Given the description of an element on the screen output the (x, y) to click on. 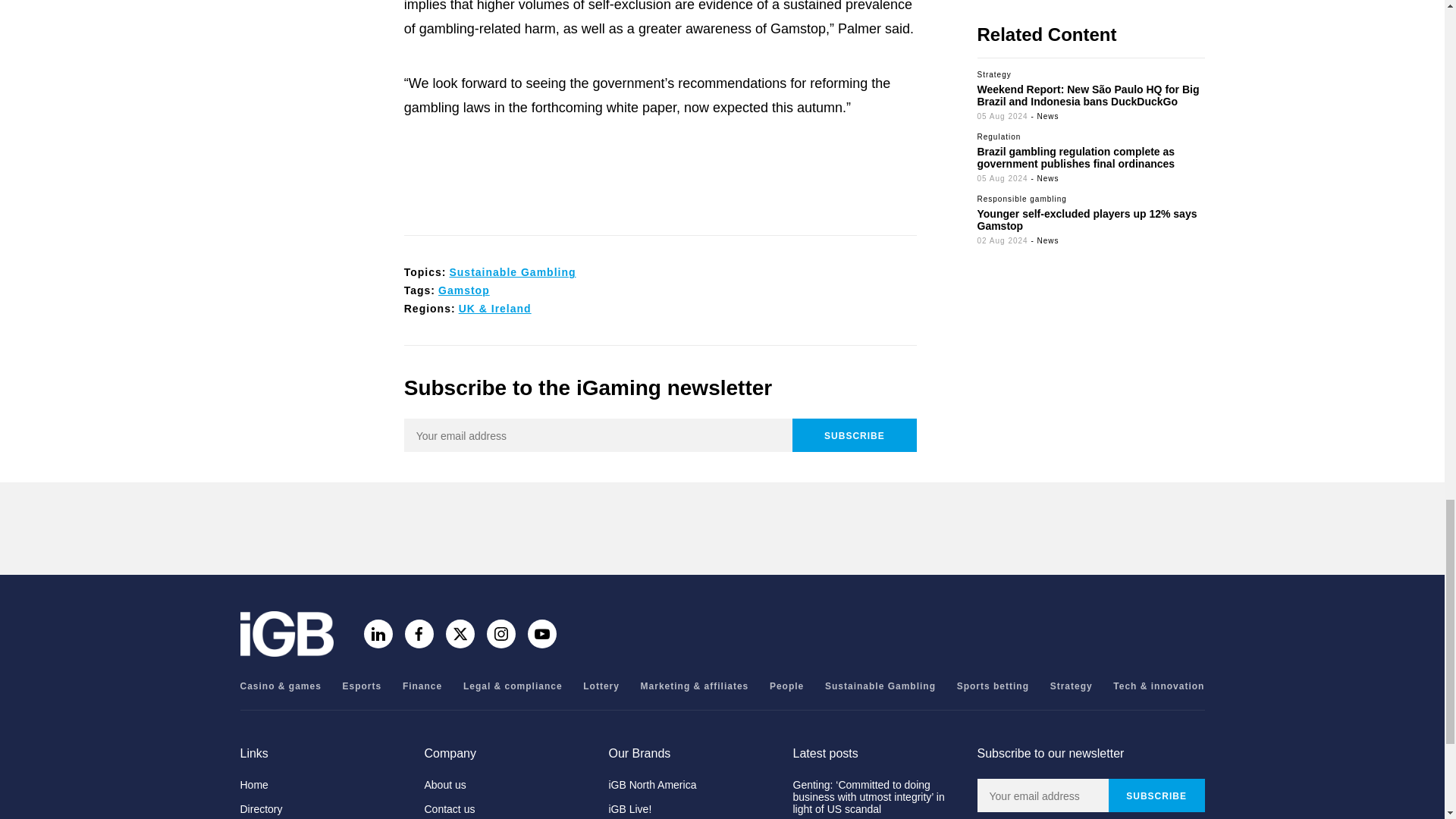
3rd party ad content (721, 528)
Subscribe (1156, 795)
Subscribe (853, 435)
3rd party ad content (659, 179)
